Given the description of an element on the screen output the (x, y) to click on. 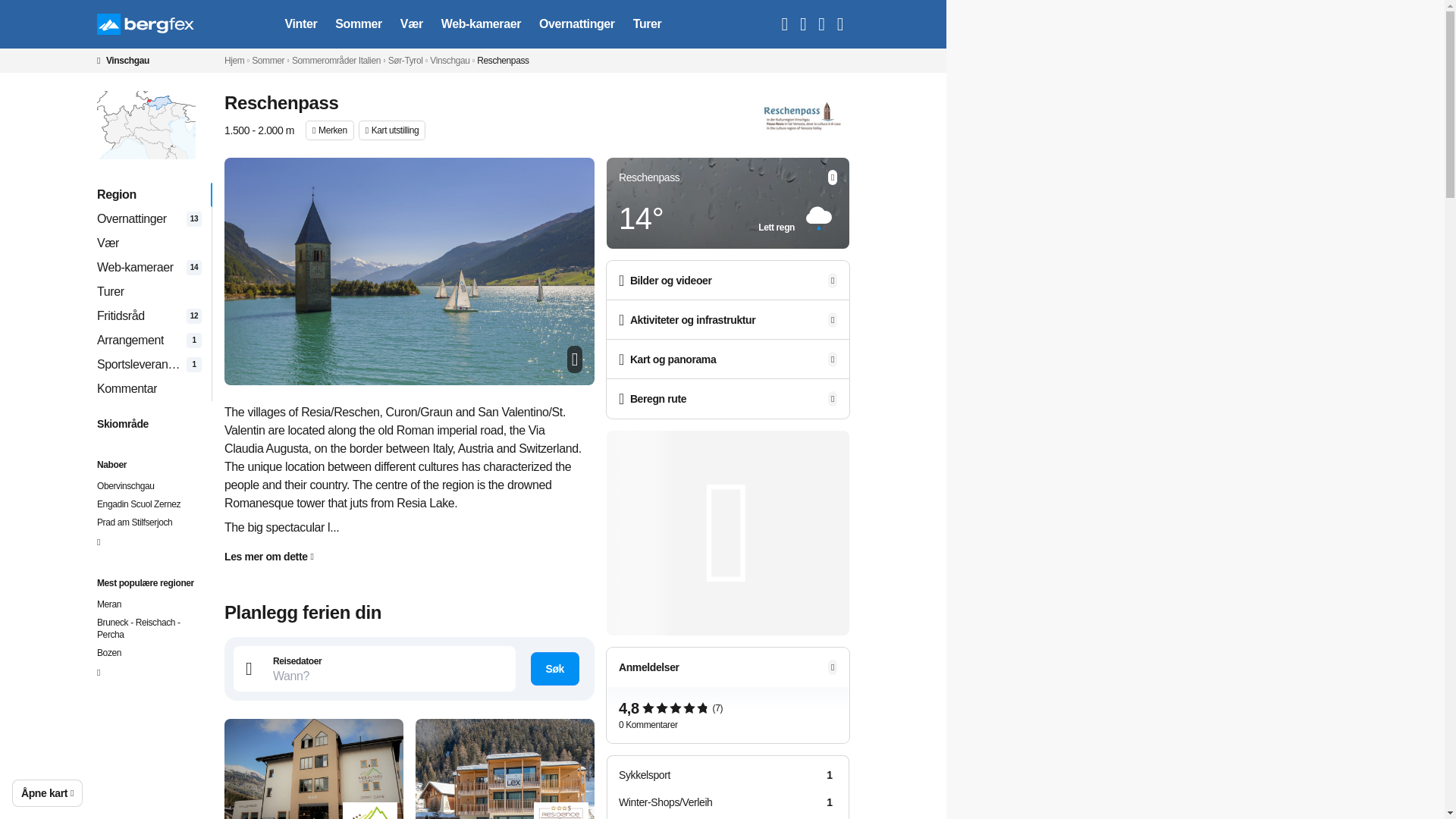
Reschenpass (502, 60)
Arrangement (149, 340)
Turer (149, 291)
Hjem (234, 60)
Turer (149, 291)
Sommer (267, 60)
Turer (647, 24)
Overnattinger (149, 267)
Region (576, 24)
Vinschgau (149, 194)
Vinschgau (448, 60)
Sommer (123, 60)
bergfex Homepage (358, 24)
Region (145, 24)
